Given the description of an element on the screen output the (x, y) to click on. 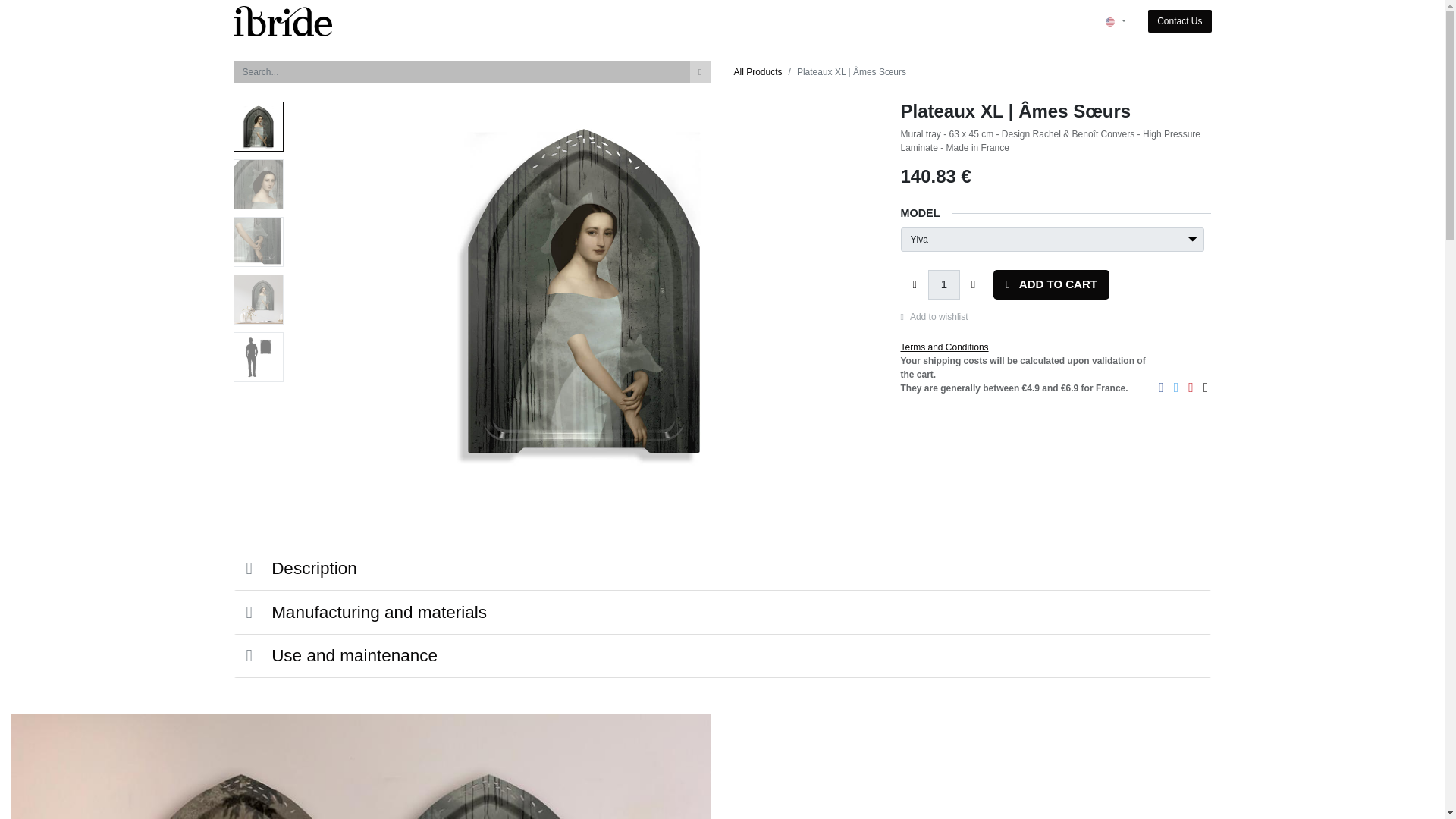
Ibride (282, 20)
1 (943, 284)
